Given the description of an element on the screen output the (x, y) to click on. 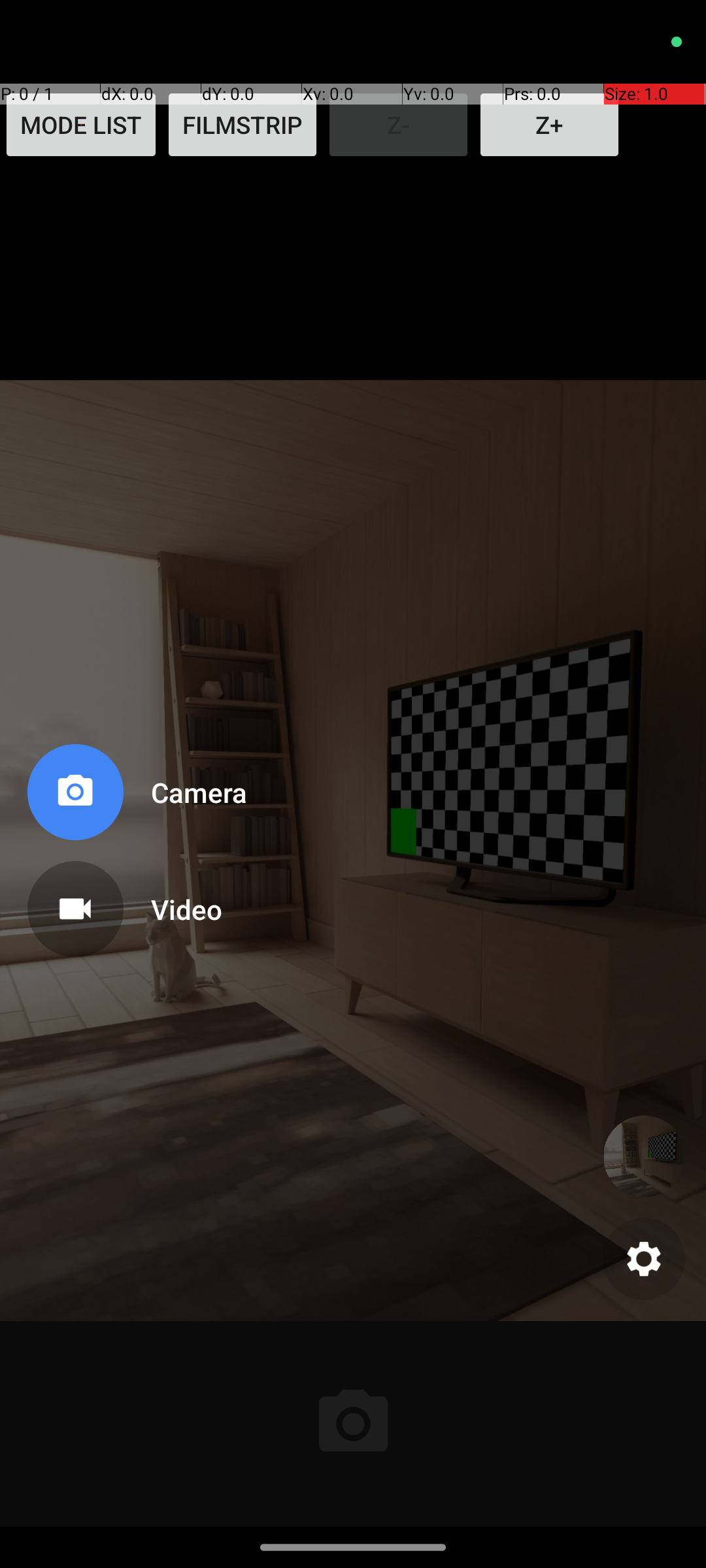
Switch to Camera Mode Element type: android.widget.FrameLayout (134, 797)
Switch to Video Camera Element type: android.widget.FrameLayout (134, 903)
